Given the description of an element on the screen output the (x, y) to click on. 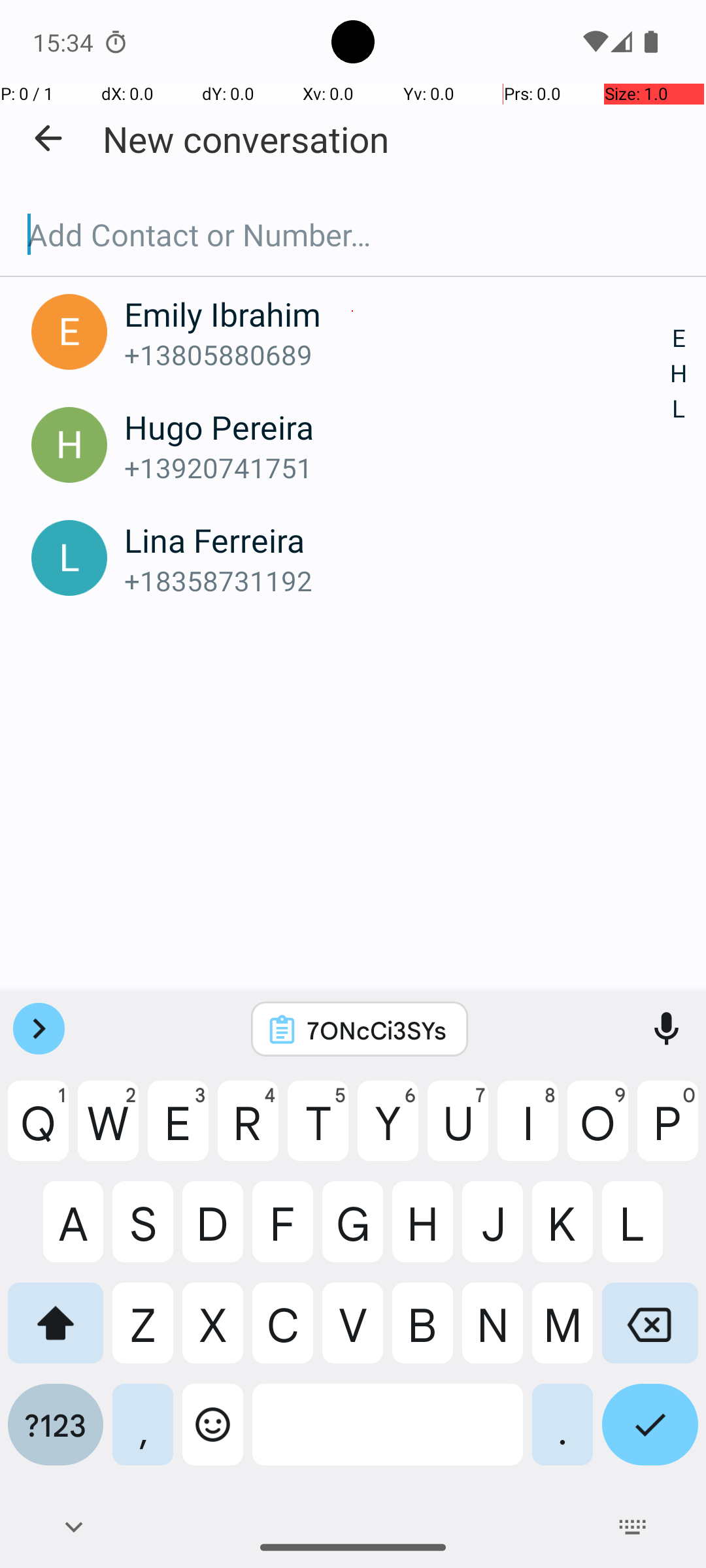
E
H
L Element type: android.widget.TextView (678, 373)
Emily Ibrahim Element type: android.widget.TextView (397, 313)
+13805880689 Element type: android.widget.TextView (397, 354)
+13920741751 Element type: android.widget.TextView (397, 467)
Lina Ferreira Element type: android.widget.TextView (397, 539)
+18358731192 Element type: android.widget.TextView (397, 580)
7ONcCi3SYs Element type: android.widget.TextView (376, 1029)
